Given the description of an element on the screen output the (x, y) to click on. 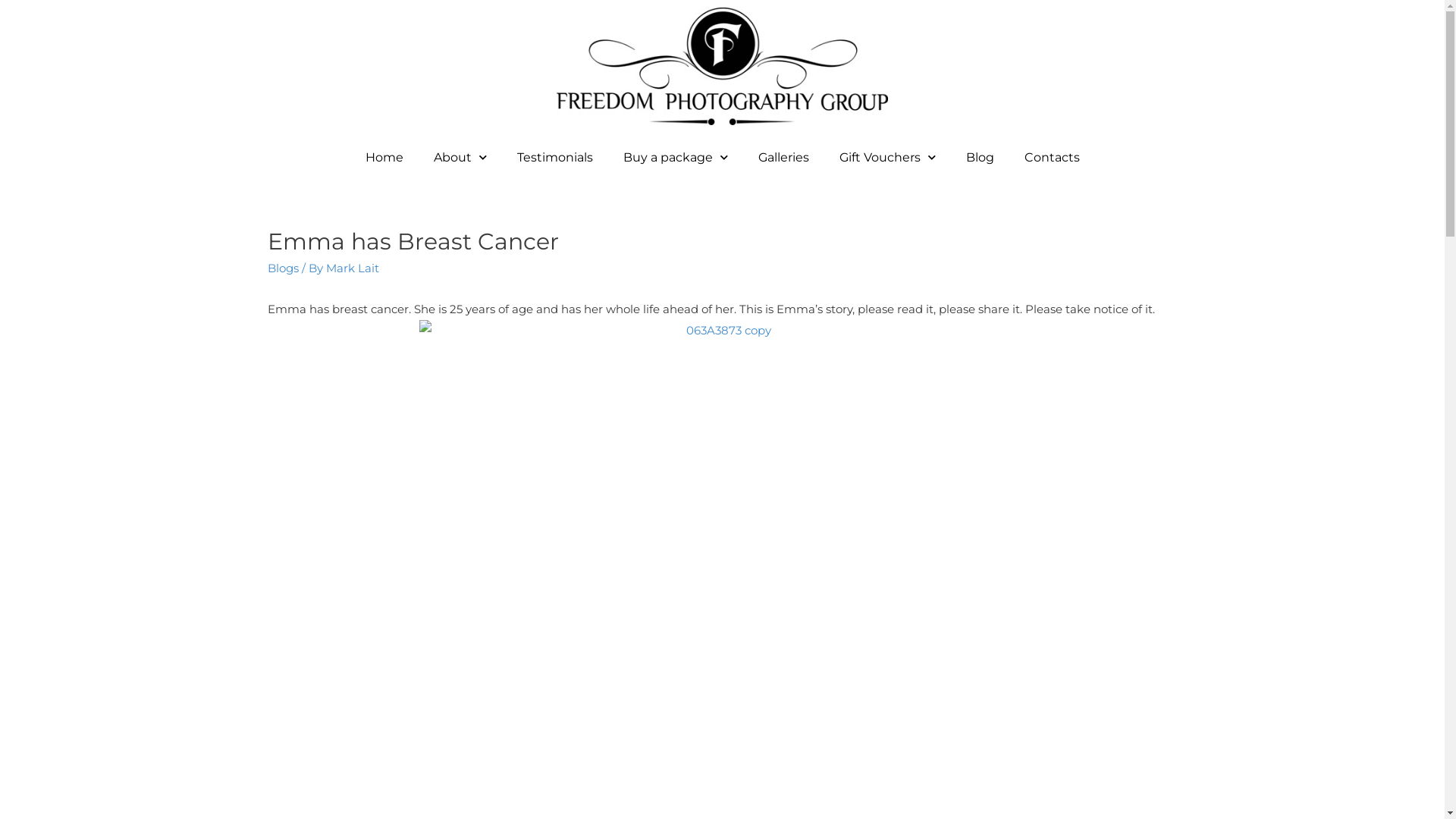
About Element type: text (460, 157)
Galleries Element type: text (783, 157)
Blogs Element type: text (282, 267)
Testimonials Element type: text (555, 157)
Buy a package Element type: text (675, 157)
Contacts Element type: text (1051, 157)
Mark Lait Element type: text (352, 267)
Blog Element type: text (979, 157)
Home Element type: text (384, 157)
Gift Vouchers Element type: text (886, 157)
